Given the description of an element on the screen output the (x, y) to click on. 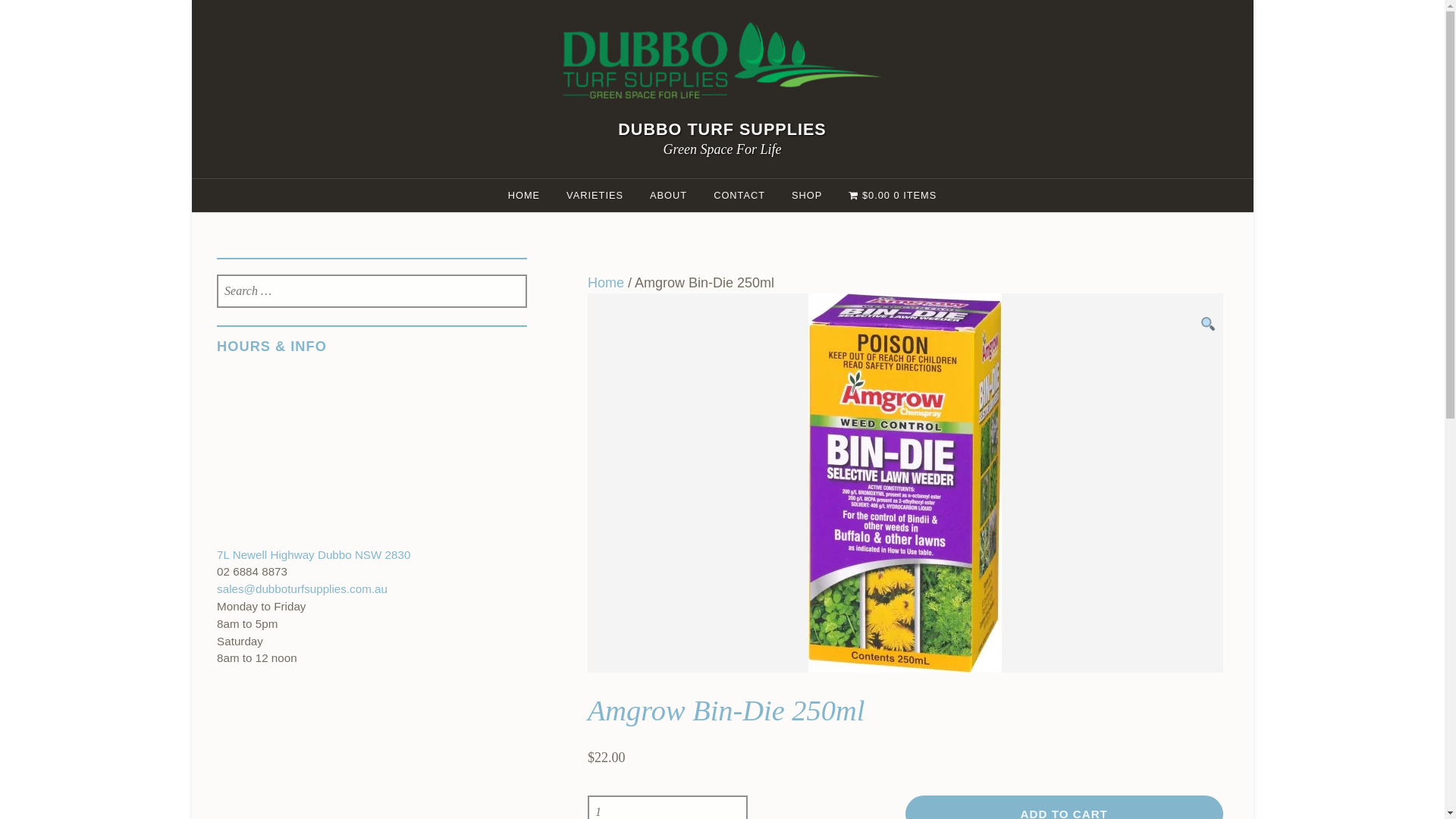
Search Element type: text (62, 18)
CONTACT Element type: text (739, 194)
SHOP Element type: text (806, 194)
Home Element type: text (605, 282)
ABOUT Element type: text (668, 194)
7L Newell Highway Dubbo NSW 2830 Element type: text (313, 554)
sales@dubboturfsupplies.com.au Element type: text (301, 588)
HOME Element type: text (523, 194)
VARIETIES Element type: text (594, 194)
DUBBO TURF SUPPLIES Element type: text (722, 128)
bin-die-250ml-angle-255x500 Element type: hover (904, 482)
$0.00 0 ITEMS Element type: text (892, 194)
Google Map Embed Element type: hover (371, 459)
